Given the description of an element on the screen output the (x, y) to click on. 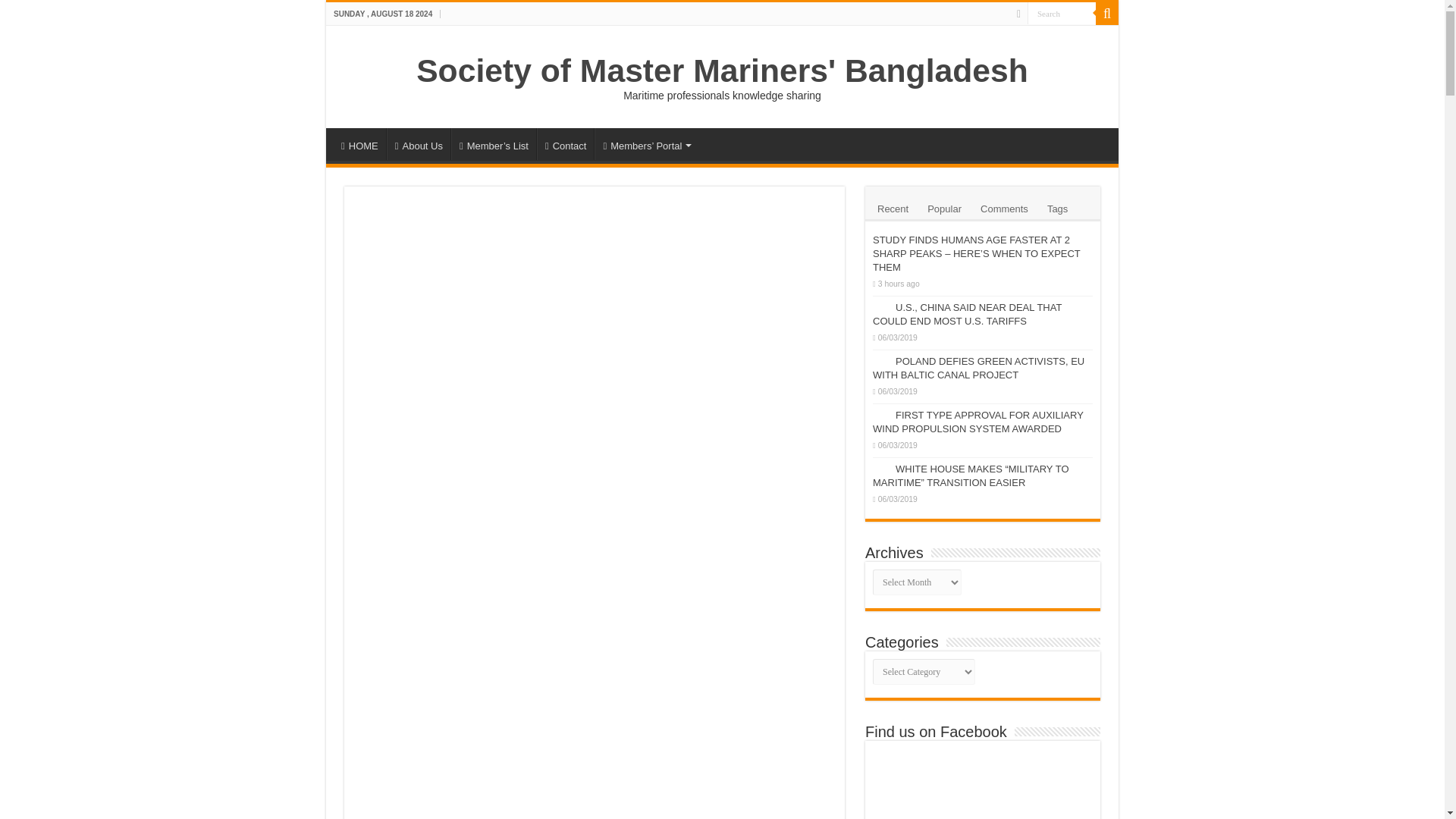
Recent (892, 207)
Tags (1057, 207)
Search (1061, 13)
Search (1061, 13)
Society of Master Mariners' Bangladesh (721, 70)
Search (1061, 13)
Comments (1004, 207)
Contact (565, 143)
Search (1107, 13)
HOME (359, 143)
